Given the description of an element on the screen output the (x, y) to click on. 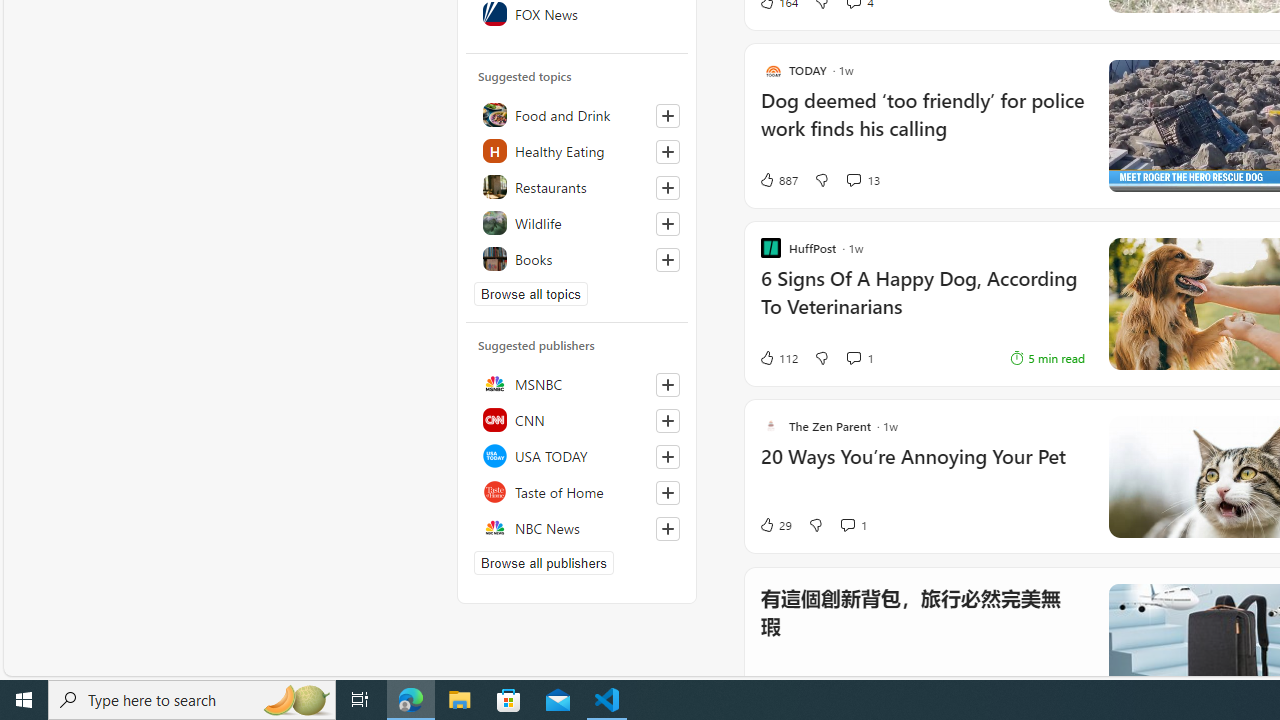
29 Like (775, 524)
Taste of Home (577, 492)
Healthy Eating (577, 150)
View comments 13 Comment (862, 179)
CNN (577, 420)
112 Like (778, 358)
View comments 1 Comment (847, 525)
Food and Drink (577, 114)
Books (577, 258)
6 Signs Of A Happy Dog, According To Veterinarians (922, 303)
MSNBC (577, 384)
